Given the description of an element on the screen output the (x, y) to click on. 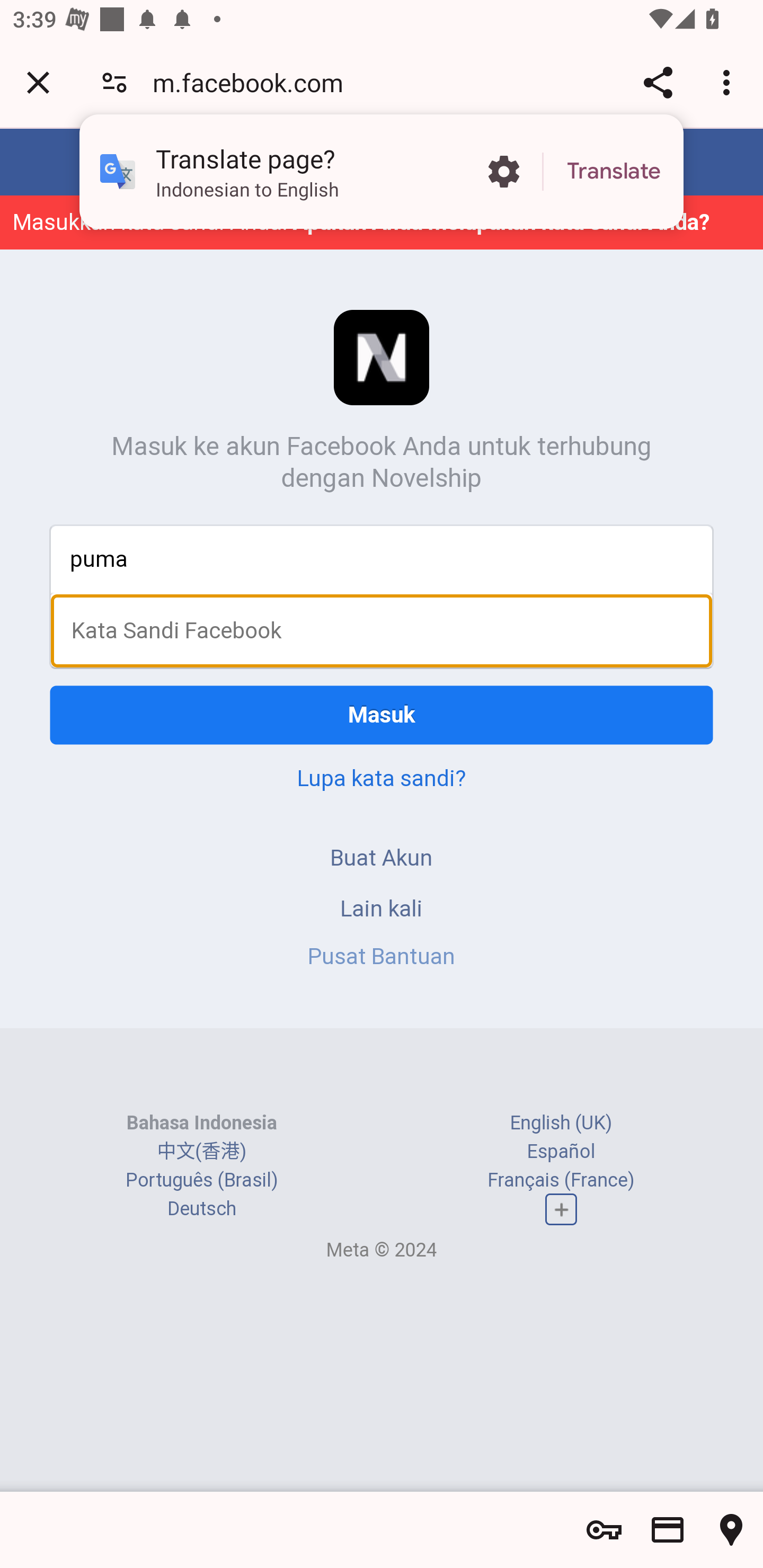
Close tab (38, 82)
Share (657, 82)
Customize and control Google Chrome (729, 82)
Connection is secure (114, 81)
m.facebook.com (254, 81)
Translate (613, 171)
More options in the Translate page? (503, 171)
puma (381, 558)
Masuk (381, 714)
Lupa kata sandi? (381, 778)
Buat Akun (381, 856)
Lain kali (381, 908)
Pusat Bantuan (381, 955)
English (UK) (560, 1122)
中文(香港) (201, 1151)
Español (560, 1151)
Português (Brasil) (201, 1179)
Français (France) (560, 1179)
Daftar bahasa lengkap (560, 1208)
Deutsch (201, 1207)
Show saved passwords and password options (603, 1530)
Show saved payment methods (667, 1530)
Show saved addresses (731, 1530)
